Given the description of an element on the screen output the (x, y) to click on. 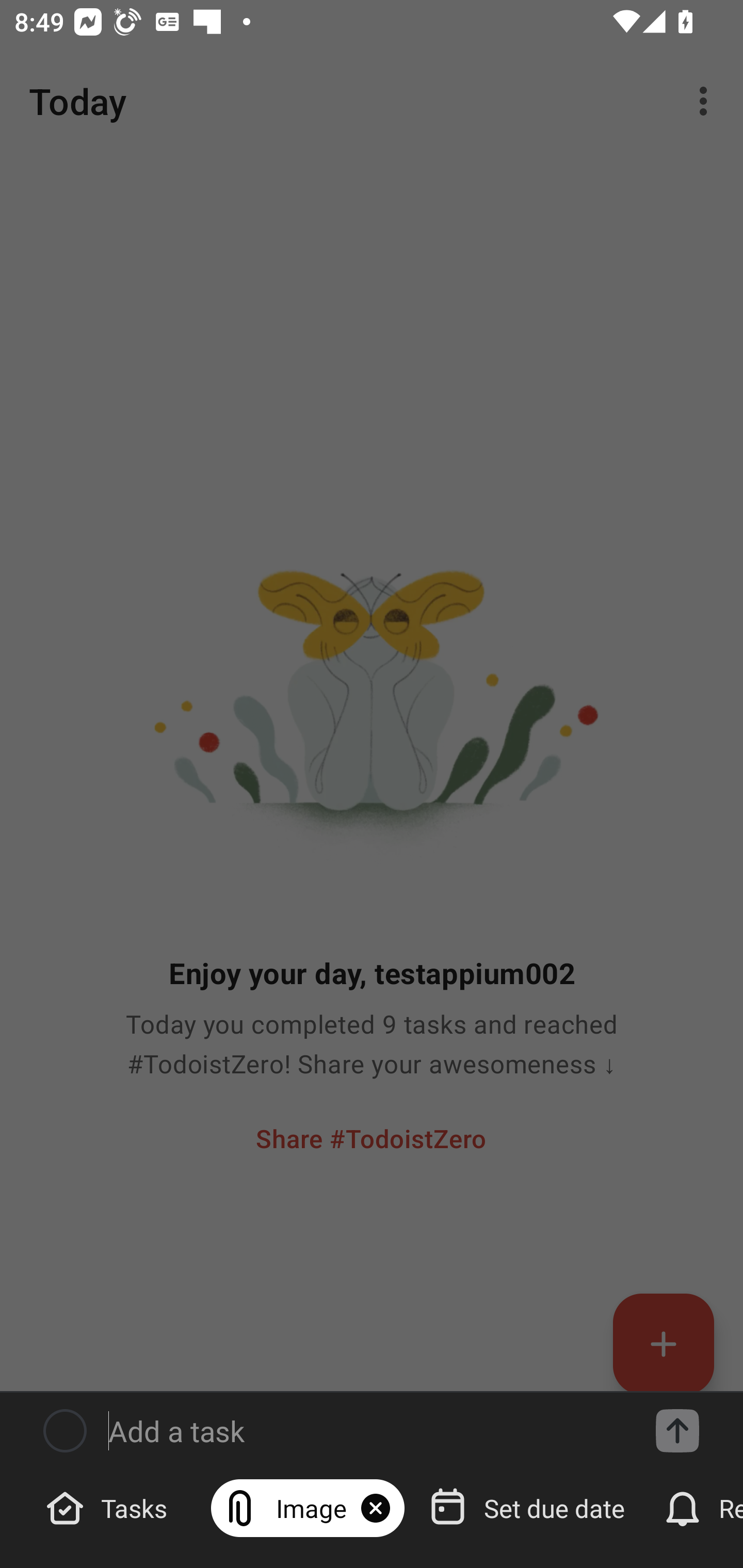
Add a task (676, 1430)
Add a task (366, 1430)
Tasks (108, 1507)
Image (307, 1507)
Set due date (528, 1507)
